Given the description of an element on the screen output the (x, y) to click on. 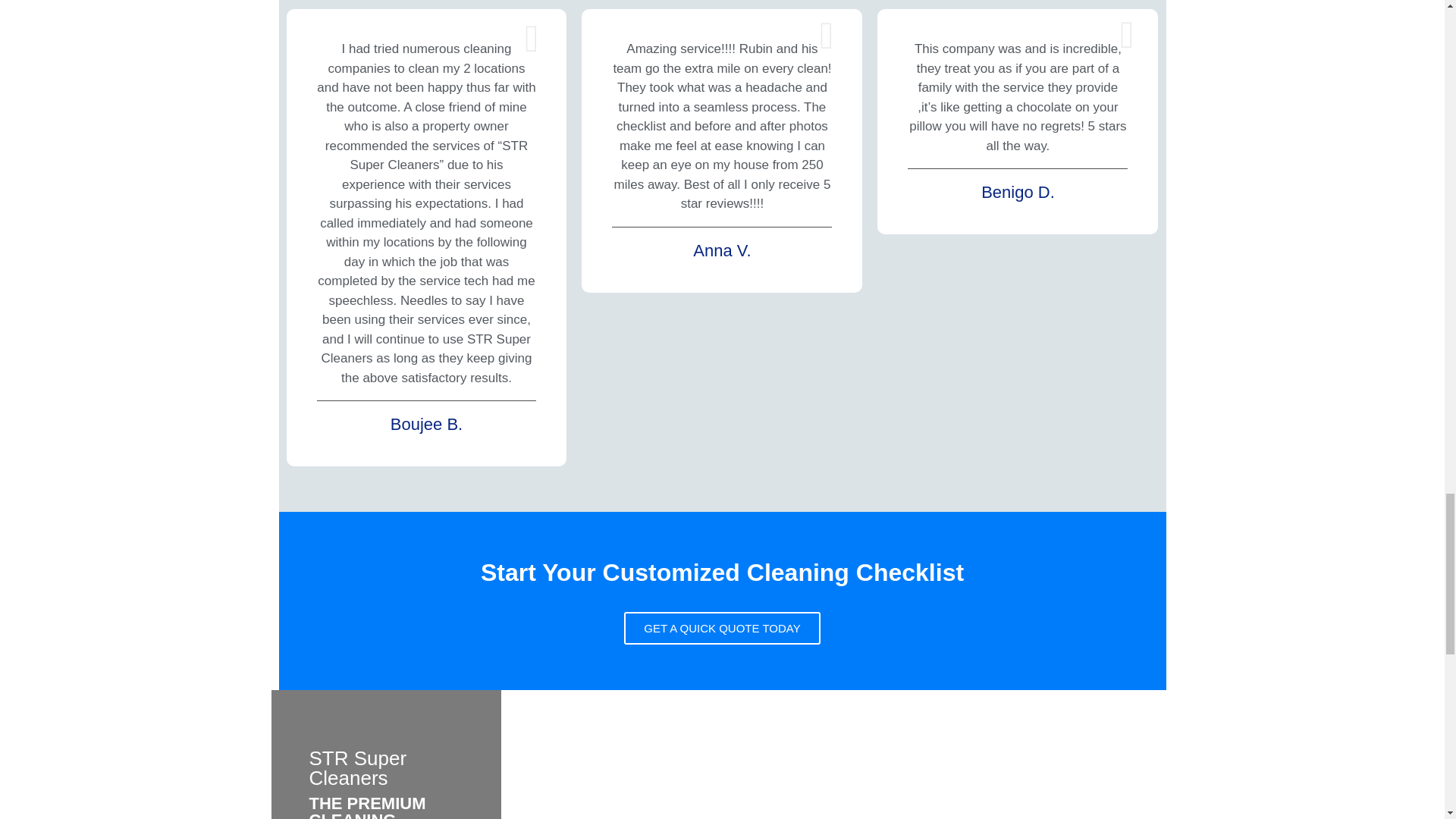
GET A QUICK QUOTE TODAY (721, 627)
